Given the description of an element on the screen output the (x, y) to click on. 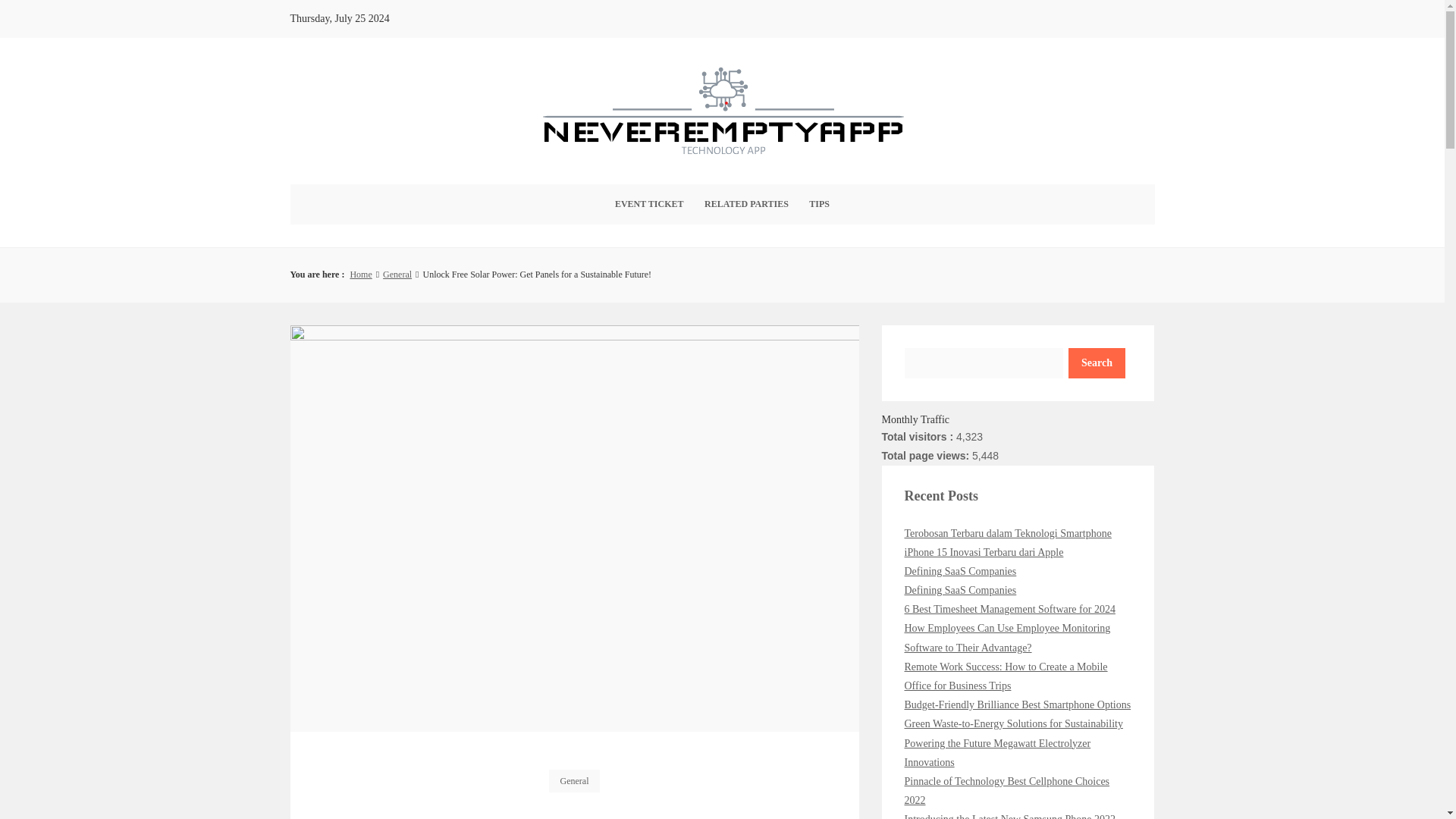
RELATED PARTIES (746, 204)
Home (360, 274)
EVENT TICKET (649, 204)
General (397, 274)
TIPS (818, 204)
General (573, 780)
Search (1096, 363)
